Given the description of an element on the screen output the (x, y) to click on. 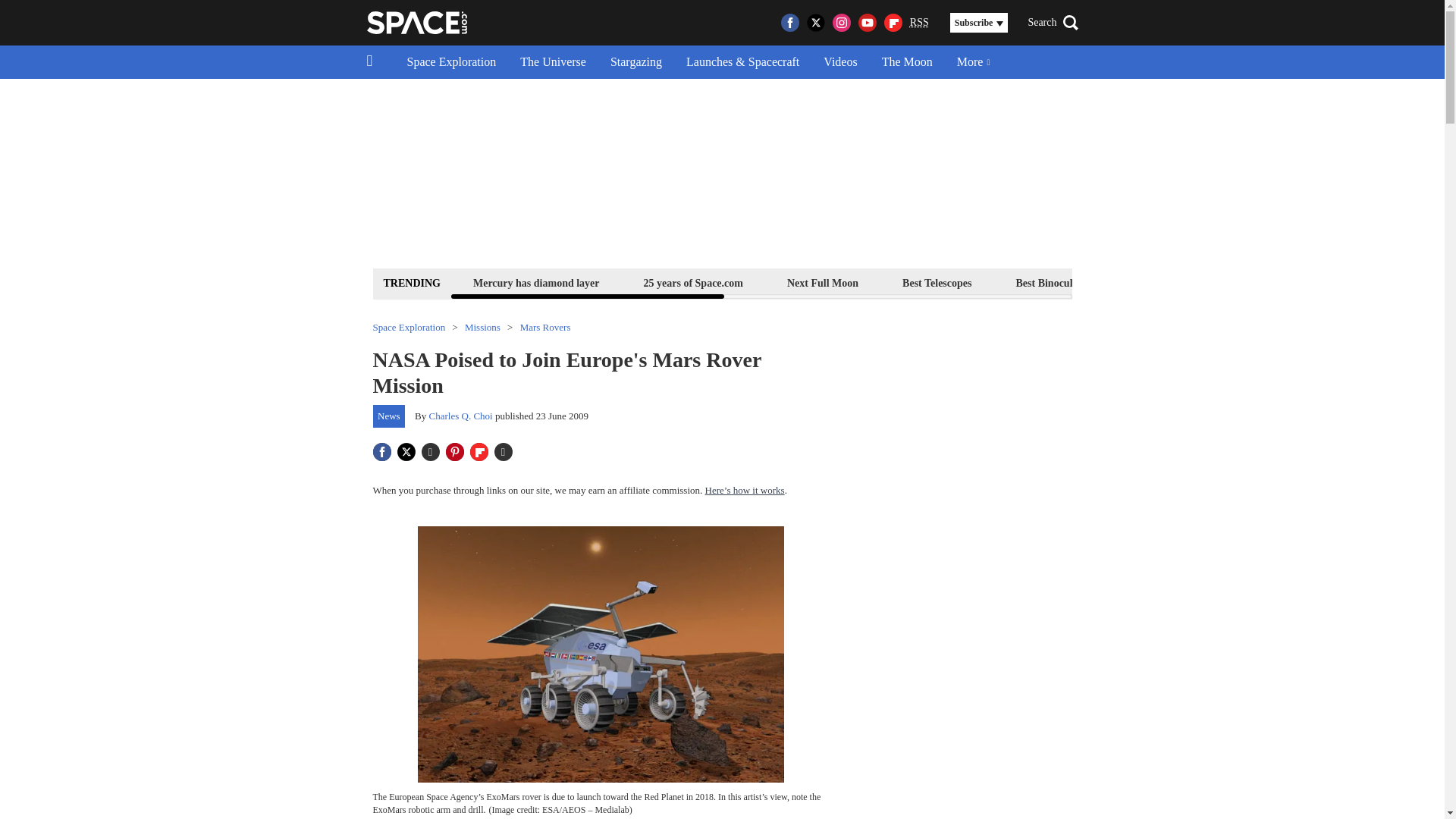
The Universe (553, 61)
25 years of Space.com (693, 282)
Stargazing (636, 61)
Mercury has diamond layer (536, 282)
Videos (839, 61)
Really Simple Syndication (919, 21)
Space Calendar (1301, 282)
Best Binoculars (1051, 282)
The Moon (906, 61)
RSS (919, 22)
Next Full Moon (822, 282)
Best Telescopes (936, 282)
Best Star Projectors (1176, 282)
Space Exploration (451, 61)
